Given the description of an element on the screen output the (x, y) to click on. 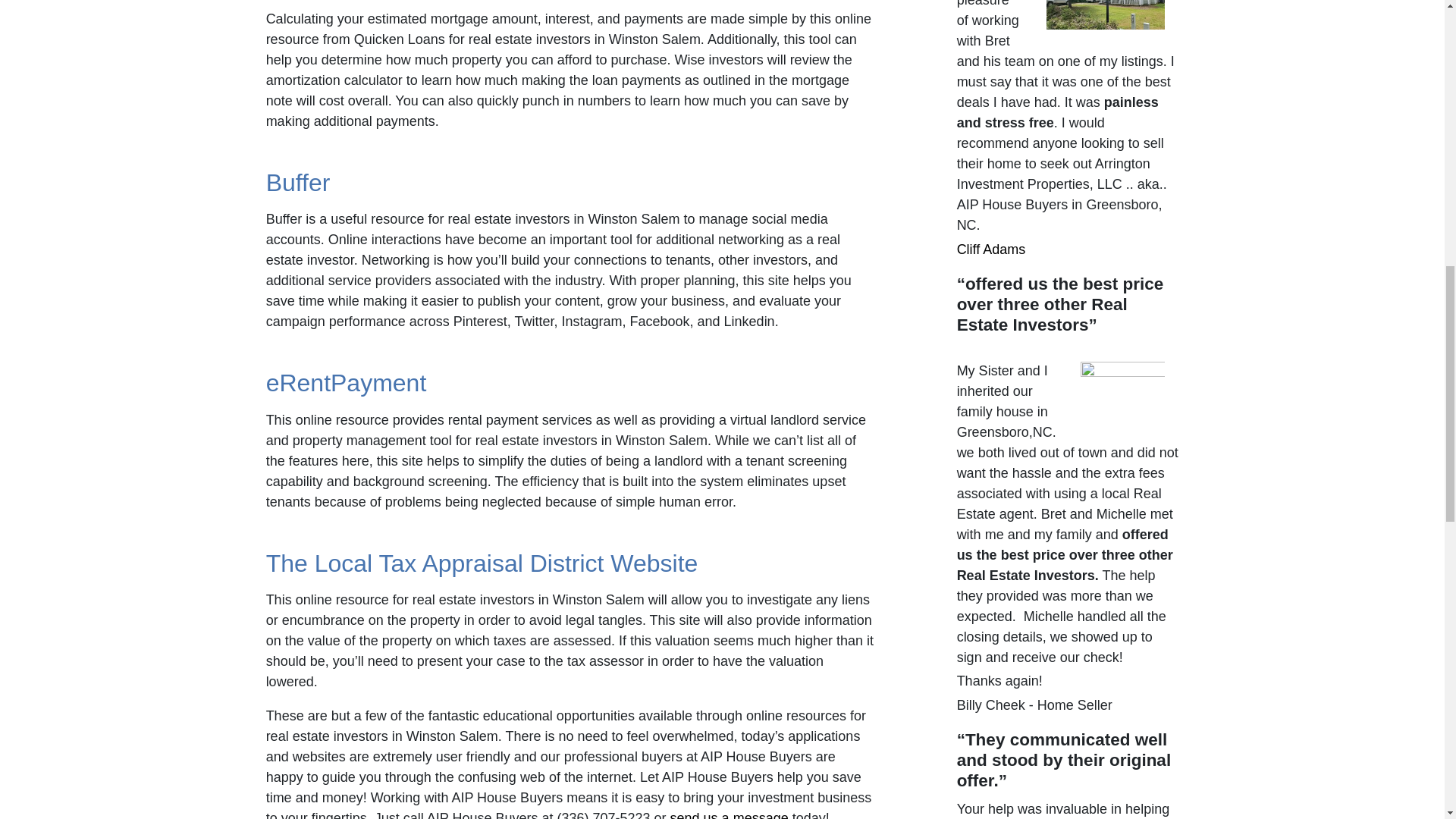
Cliff Adams (991, 249)
send us a message (729, 814)
